Given the description of an element on the screen output the (x, y) to click on. 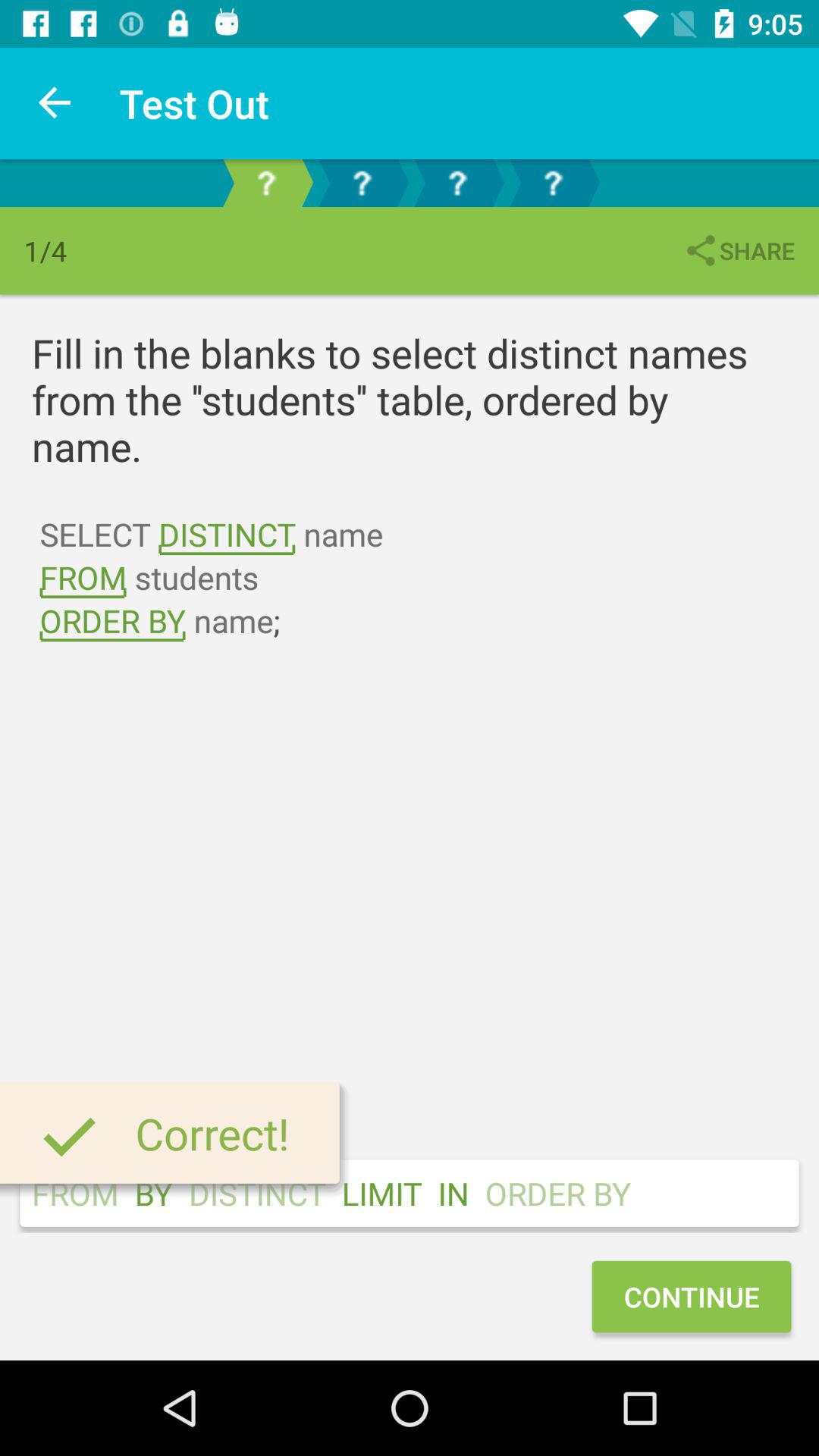
go to page 3 (457, 183)
